Given the description of an element on the screen output the (x, y) to click on. 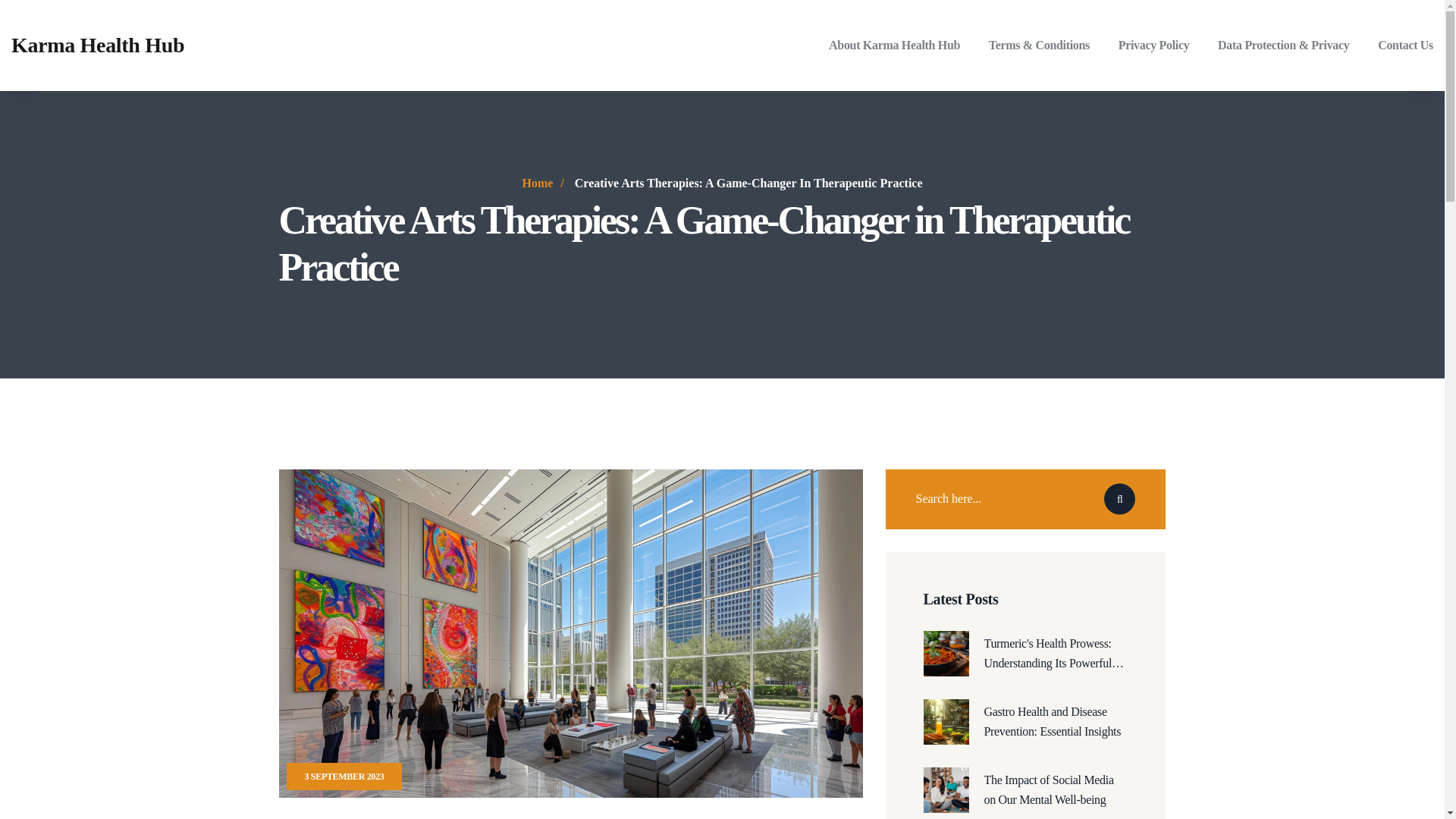
Gastro Health and Disease Prevention: Essential Insights (1056, 721)
Home (537, 182)
Karma Health Hub (97, 45)
Contact Us (1404, 44)
About Karma Health Hub (893, 44)
The Impact of Social Media on Our Mental Well-being (1056, 789)
Privacy Policy (1153, 44)
